Given the description of an element on the screen output the (x, y) to click on. 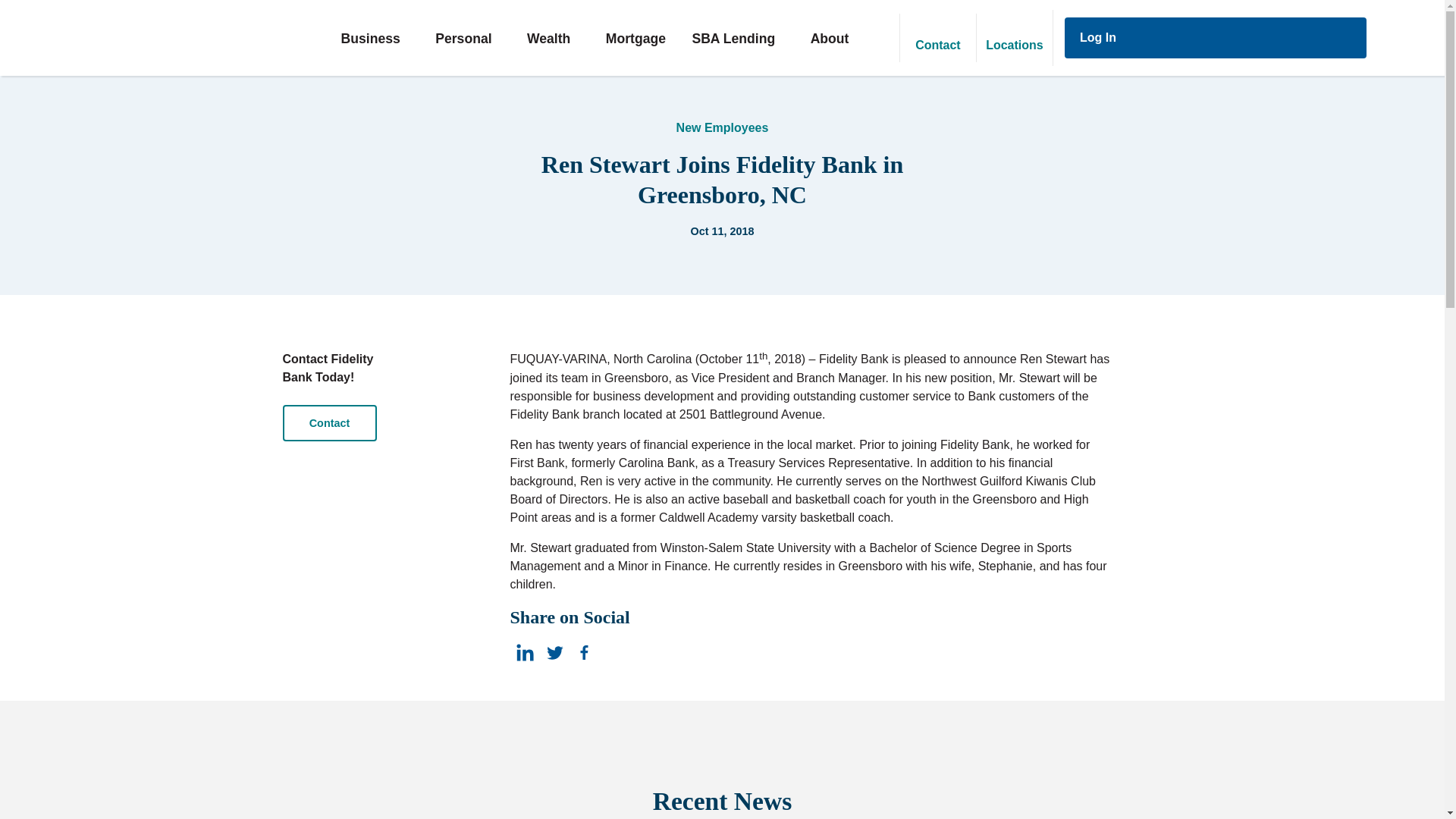
Facebook (583, 652)
Personal (471, 38)
Twitter (554, 652)
Business (378, 38)
Linkedin (524, 652)
SBA Lending (741, 38)
